Given the description of an element on the screen output the (x, y) to click on. 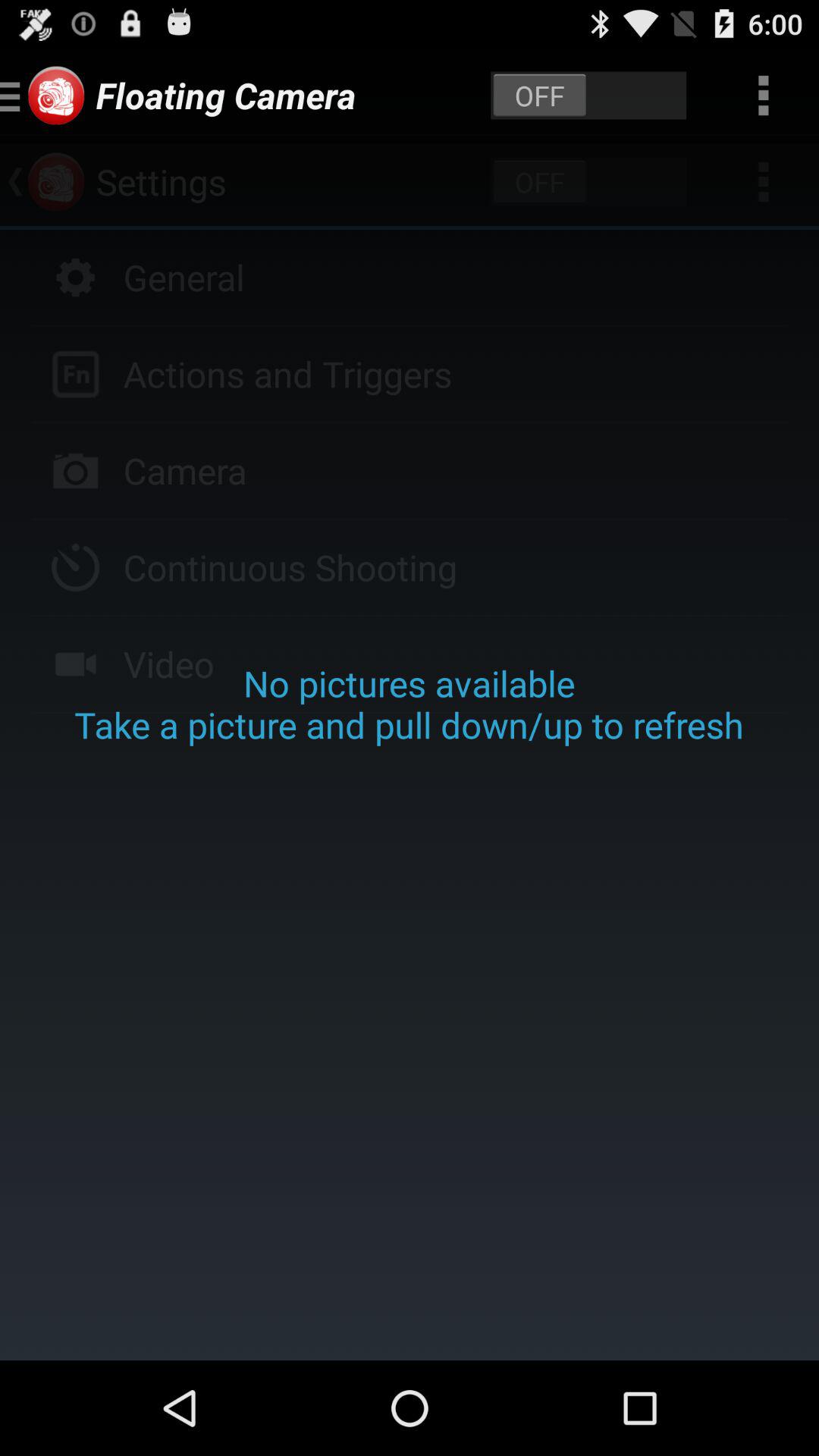
toggle on and off (588, 95)
